Given the description of an element on the screen output the (x, y) to click on. 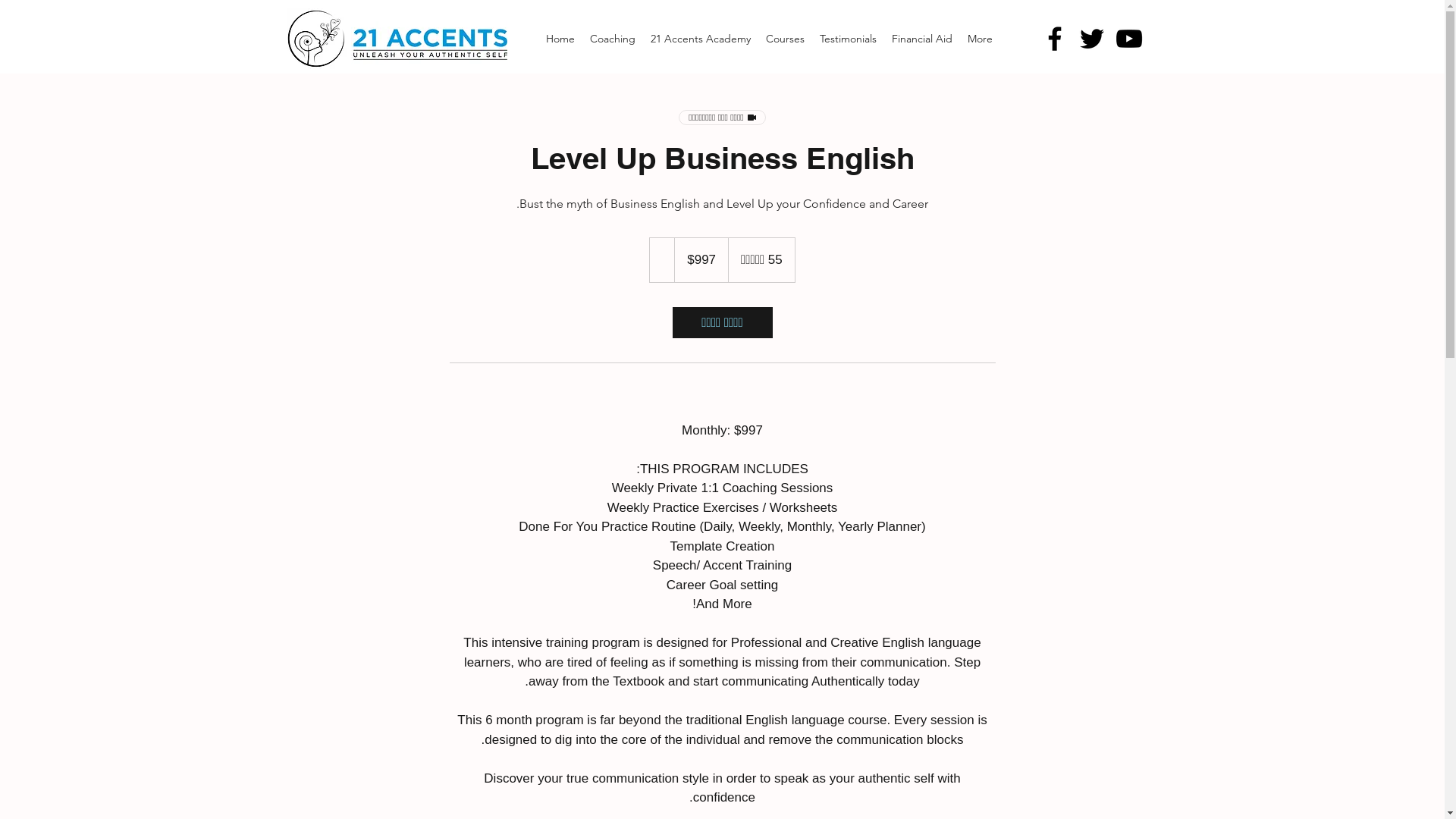
Courses Element type: text (785, 38)
21 Accents Academy Element type: text (700, 38)
Testimonials Element type: text (848, 38)
Coaching Element type: text (612, 38)
21 Accents Logo - side.jpeg Element type: hover (428, 42)
Financial Aid Element type: text (922, 38)
Home Element type: text (560, 38)
